Given the description of an element on the screen output the (x, y) to click on. 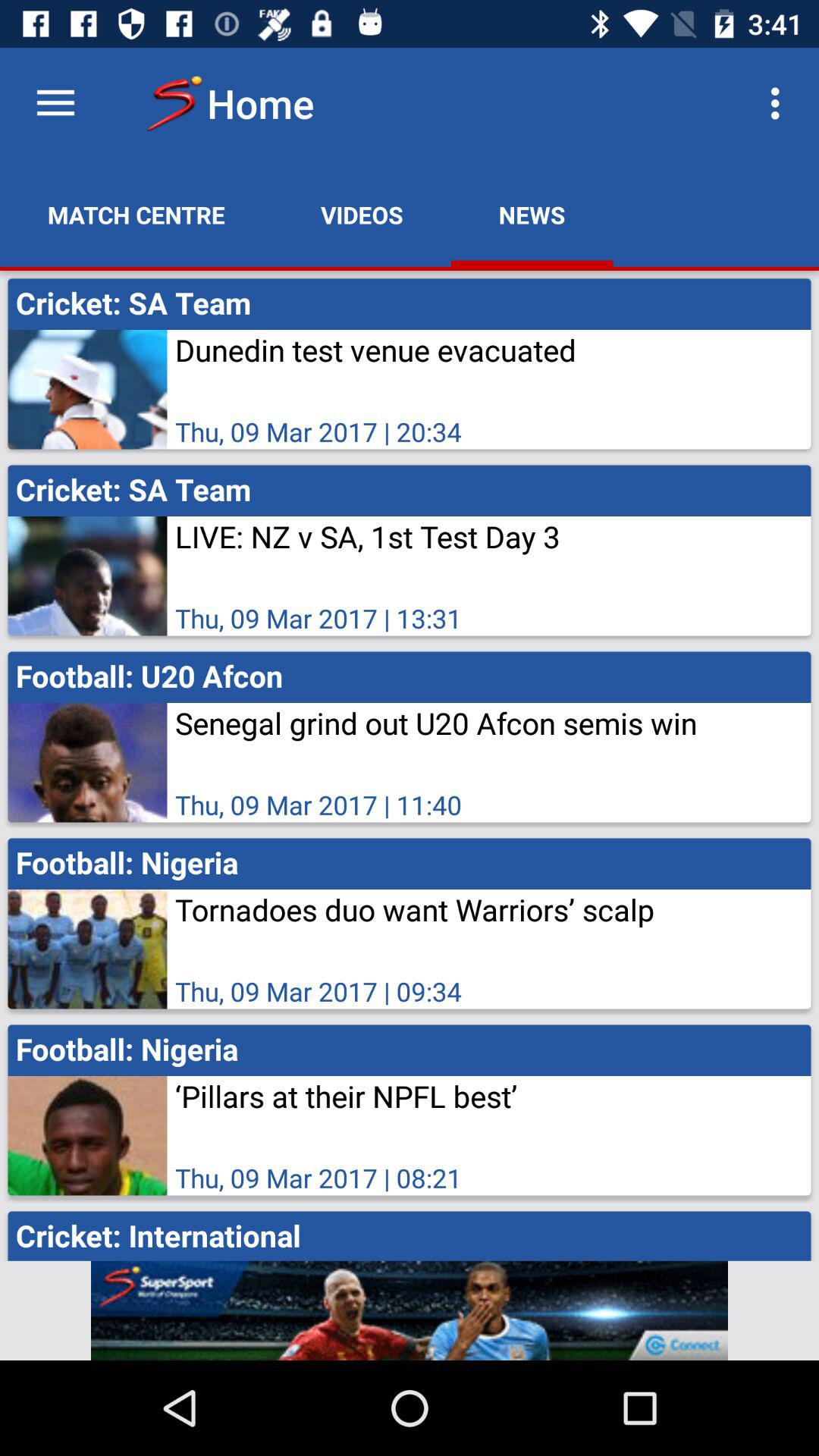
open menu (55, 103)
